Given the description of an element on the screen output the (x, y) to click on. 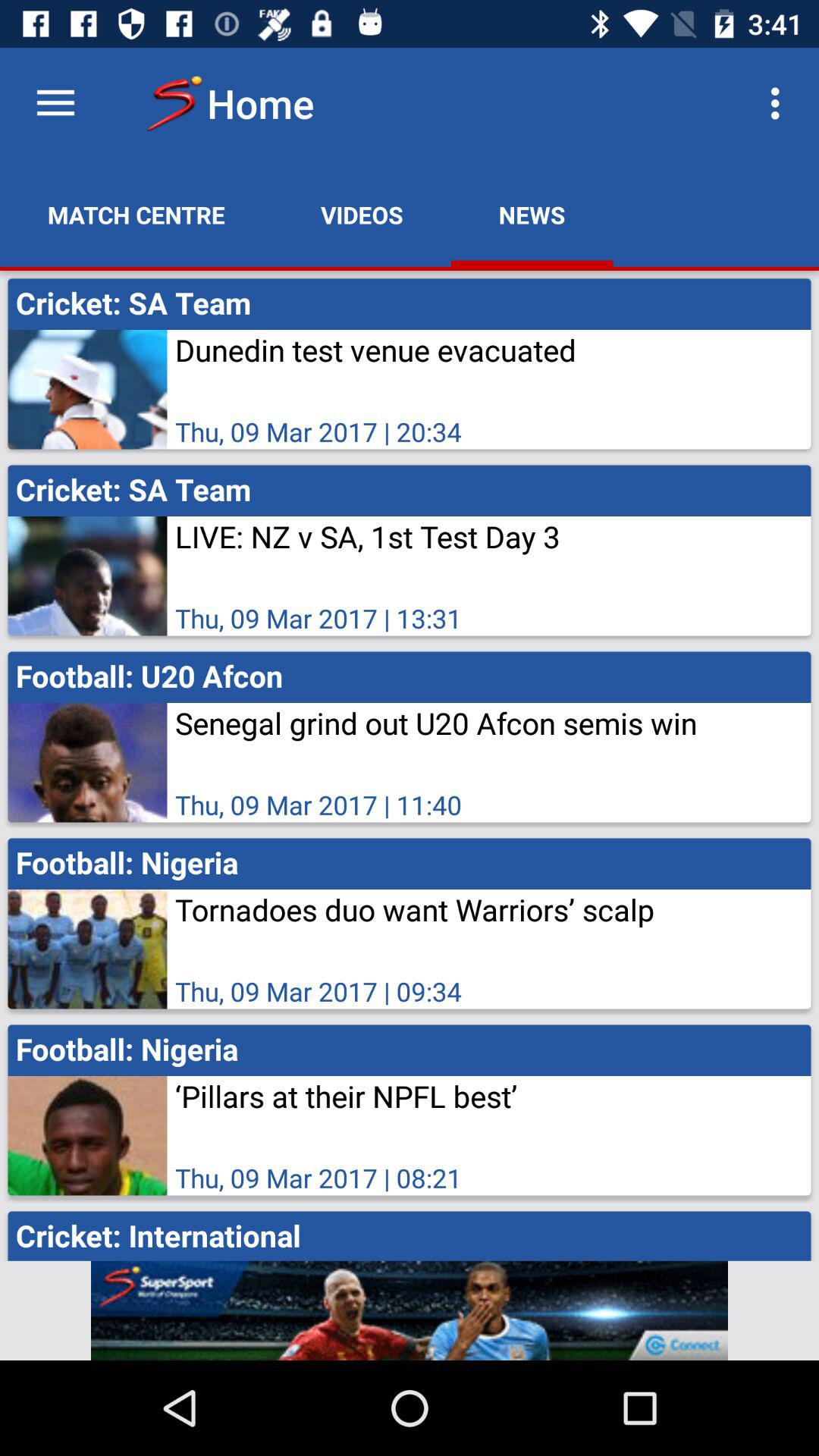
open menu (55, 103)
